Given the description of an element on the screen output the (x, y) to click on. 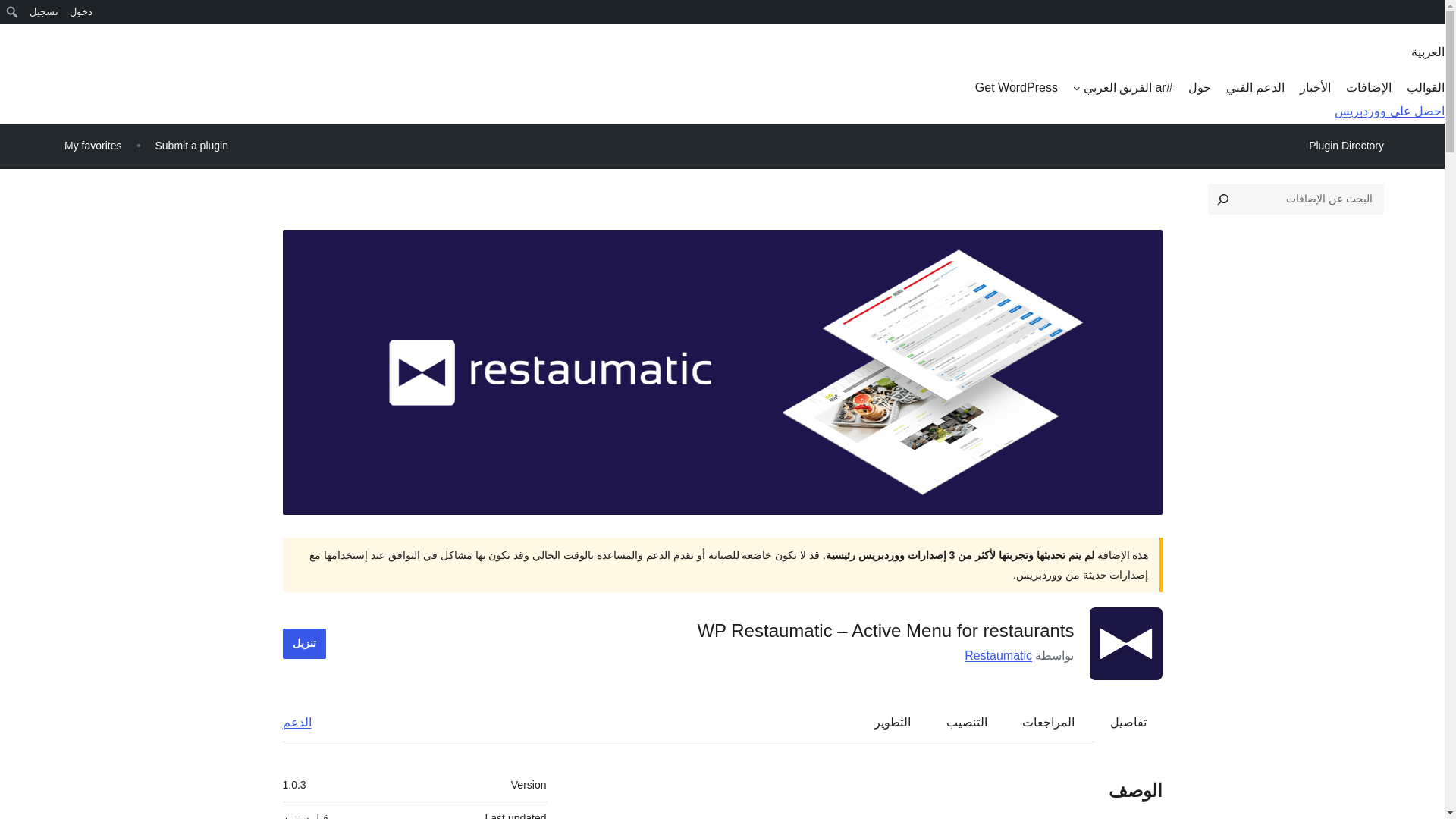
My favorites (93, 145)
Restaumatic (997, 655)
Plugin Directory (1345, 145)
Submit a plugin (191, 145)
Get WordPress (1016, 87)
